Given the description of an element on the screen output the (x, y) to click on. 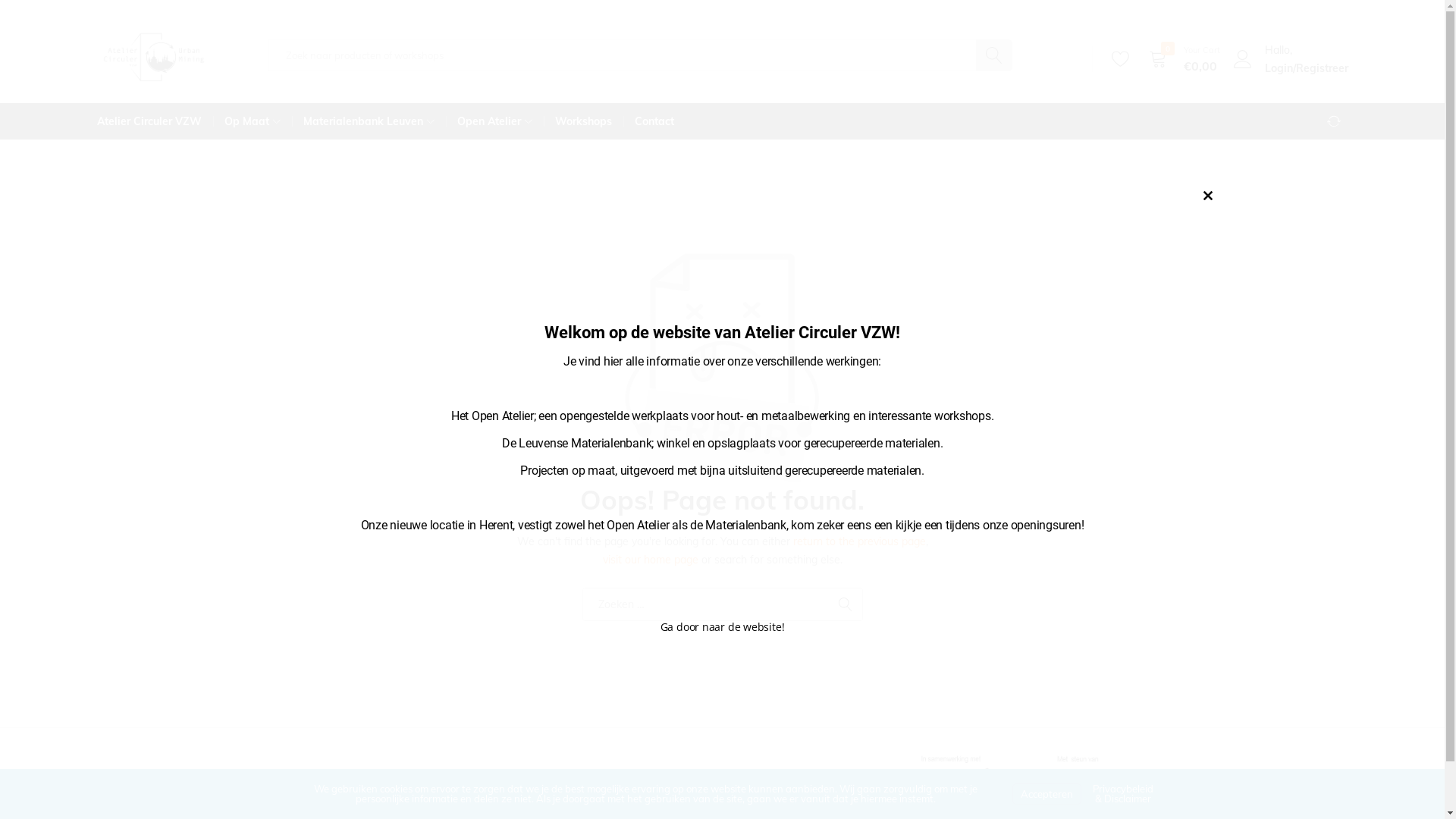
Contact Element type: text (654, 120)
Zoeken Element type: text (845, 604)
Op Maat Element type: text (251, 120)
Privacybeleid & Disclaimer Element type: text (1122, 793)
Close this module Element type: text (1207, 195)
Materialenbank Leuven Element type: text (368, 120)
return to the previous page Element type: text (859, 541)
Ga door naar de website! Element type: text (722, 626)
Disclaimer & Privacy beleid. Element type: text (345, 807)
Atelier Circuler VZW Element type: text (155, 120)
visit our home page Element type: text (649, 559)
Accepteren Element type: text (1046, 792)
Open Atelier Element type: text (494, 120)
Hallo,
Login/Registreer Element type: text (1289, 58)
Workshops Element type: text (582, 120)
